Given the description of an element on the screen output the (x, y) to click on. 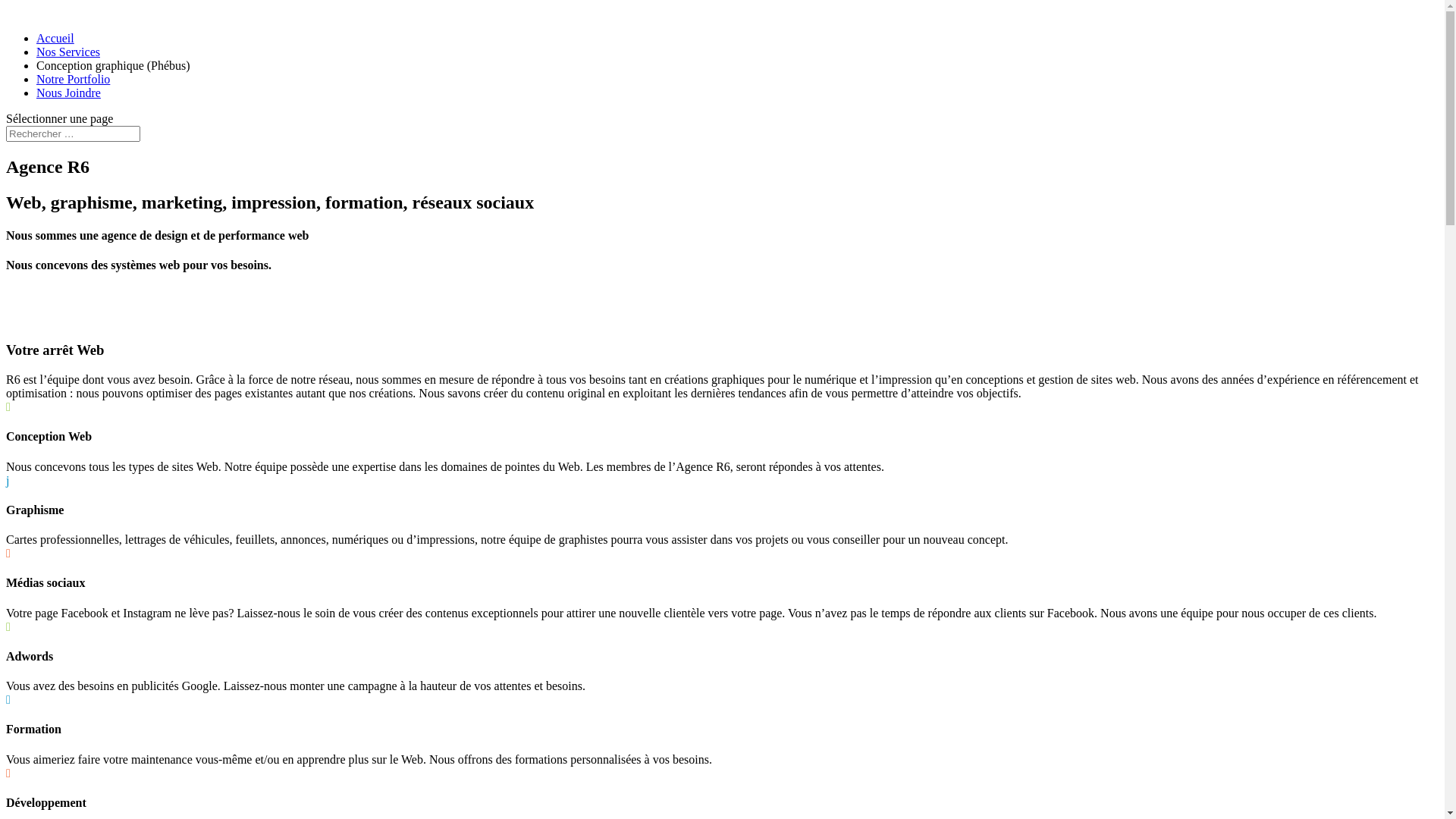
Nos Services Element type: text (68, 51)
Accueil Element type: text (55, 37)
Nous Joindre Element type: text (68, 92)
Notre Portfolio Element type: text (72, 78)
Rechercher: Element type: hover (73, 133)
